Given the description of an element on the screen output the (x, y) to click on. 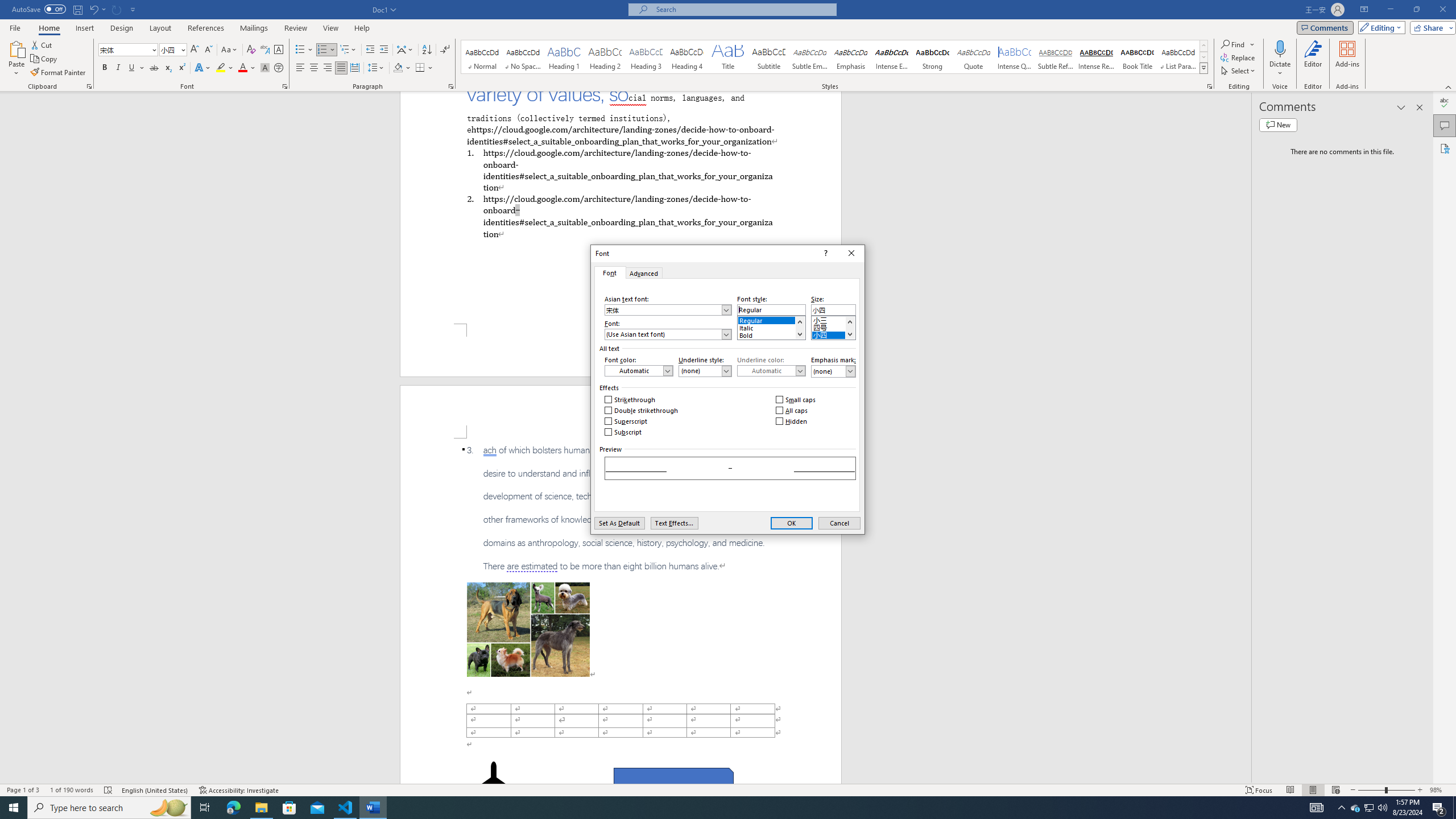
Page Number Page 1 of 3 (22, 790)
Microsoft search (742, 9)
Decrease Indent (370, 49)
Align Right (327, 67)
Font Size (1368, 807)
Subscript (169, 49)
Heading 4 (623, 431)
Action Center, 2 new notifications (686, 56)
Font: (1439, 807)
Cancel (668, 333)
Select (839, 522)
Strikethrough (1238, 69)
Line up (630, 399)
